Given the description of an element on the screen output the (x, y) to click on. 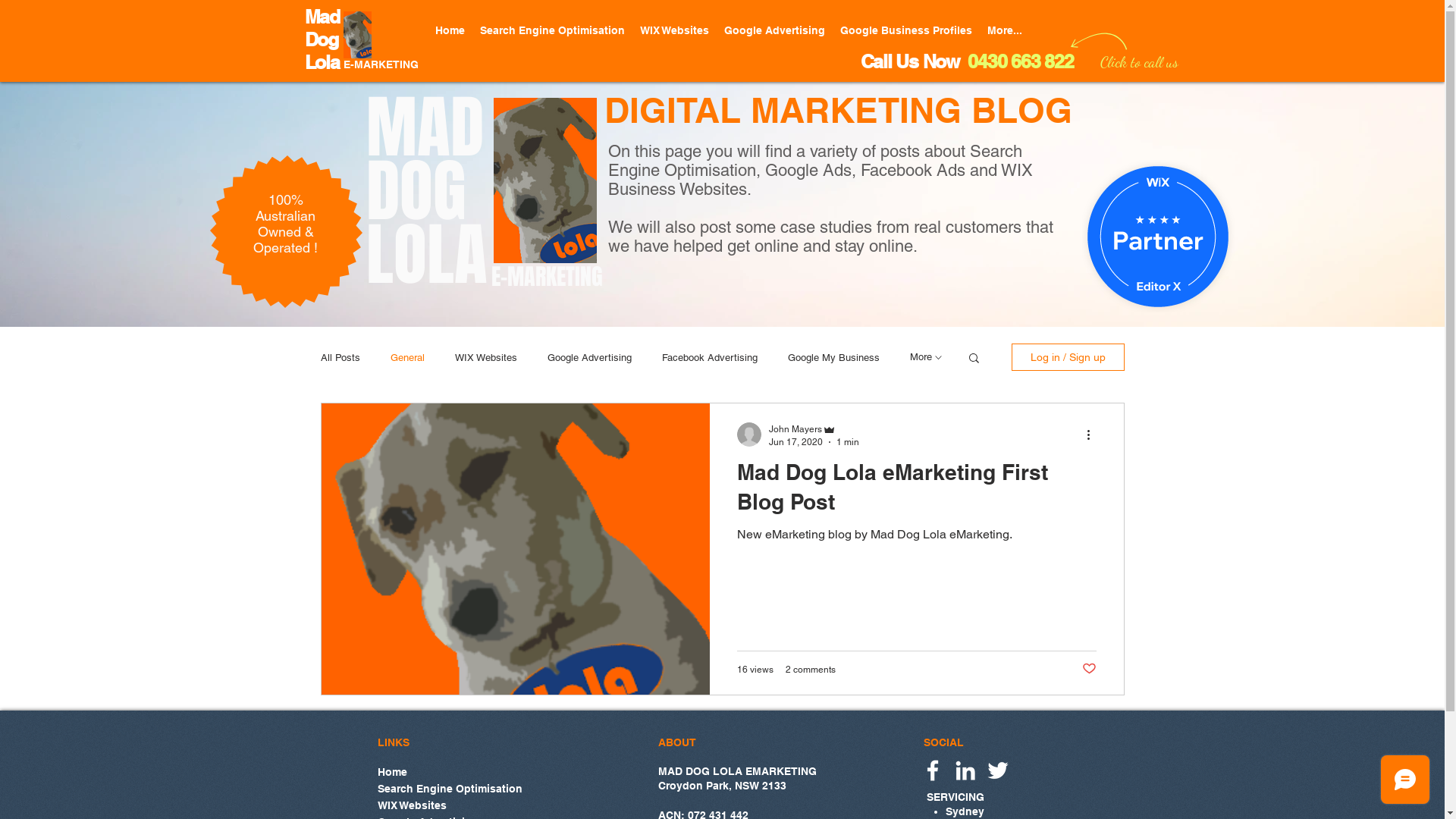
Google My Business Element type: text (832, 357)
Mad Element type: text (321, 17)
WIX Websites Element type: text (674, 30)
All Posts Element type: text (339, 357)
General Element type: text (406, 357)
Google Advertising Element type: text (773, 30)
Search Engine Optimisation Element type: text (449, 787)
Post not marked as liked Element type: text (1088, 669)
WIX Websites Element type: text (486, 357)
Dog Element type: text (321, 39)
Log in / Sign up Element type: text (1067, 356)
Home Element type: text (449, 770)
Facebook Advertising Element type: text (708, 357)
Lola Element type: text (321, 62)
Google Advertising Element type: text (589, 357)
2 comments Element type: text (810, 669)
Call Us Now  0430 663 822 Element type: text (966, 61)
Search Engine Optimisation Element type: text (551, 30)
WIX Websites Element type: text (449, 804)
Mad Dog Lola eMarketing First Blog Post Element type: text (916, 490)
Home Element type: text (449, 30)
Google Business Profiles Element type: text (905, 30)
